Given the description of an element on the screen output the (x, y) to click on. 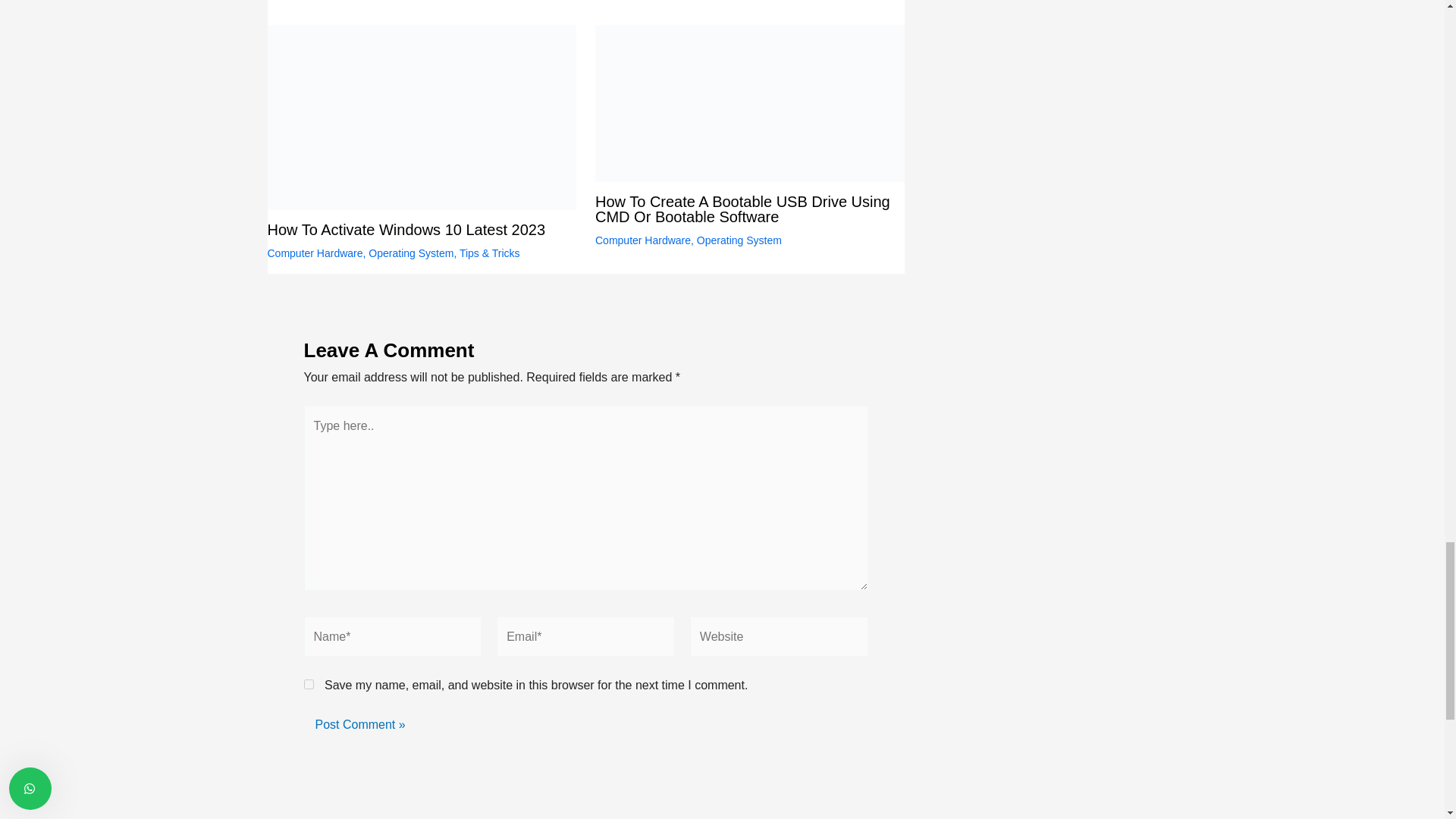
yes (307, 684)
